Given the description of an element on the screen output the (x, y) to click on. 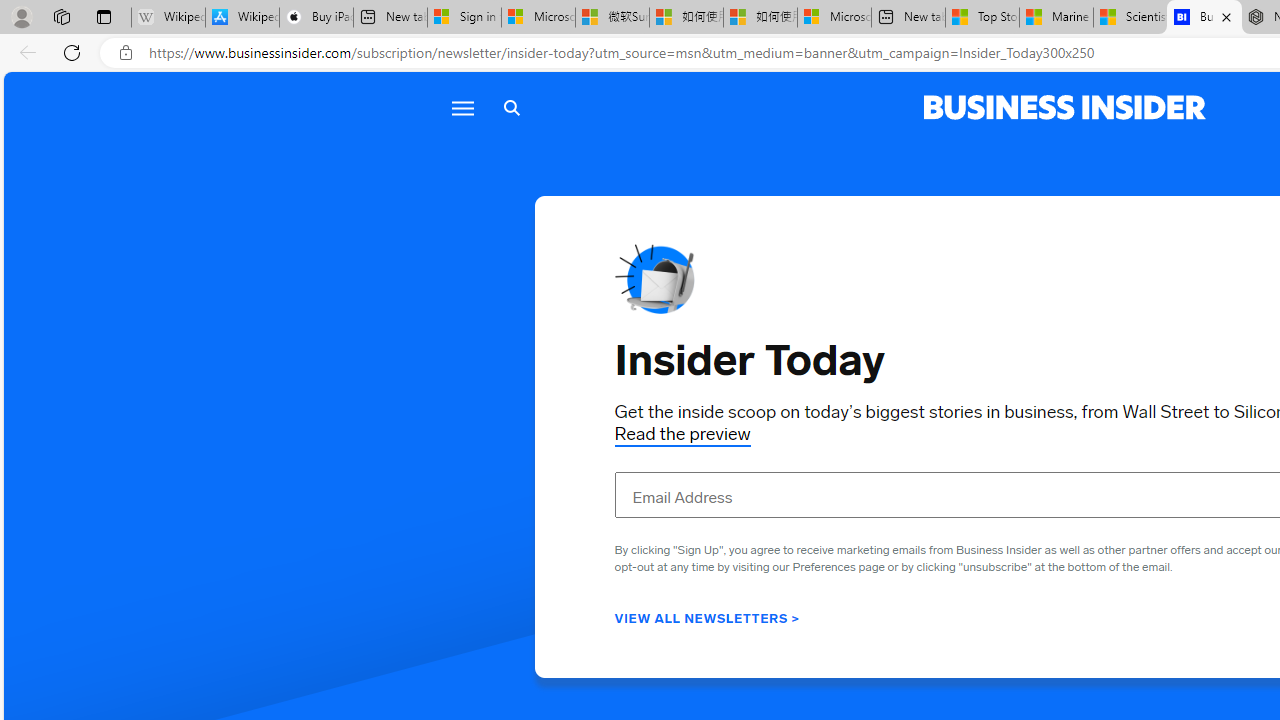
Business Insider logo (1064, 107)
Business Insider logo (1064, 107)
Go to the search page. (511, 107)
Mailbox (654, 278)
Read the preview (682, 434)
Menu icon (462, 107)
